Given the description of an element on the screen output the (x, y) to click on. 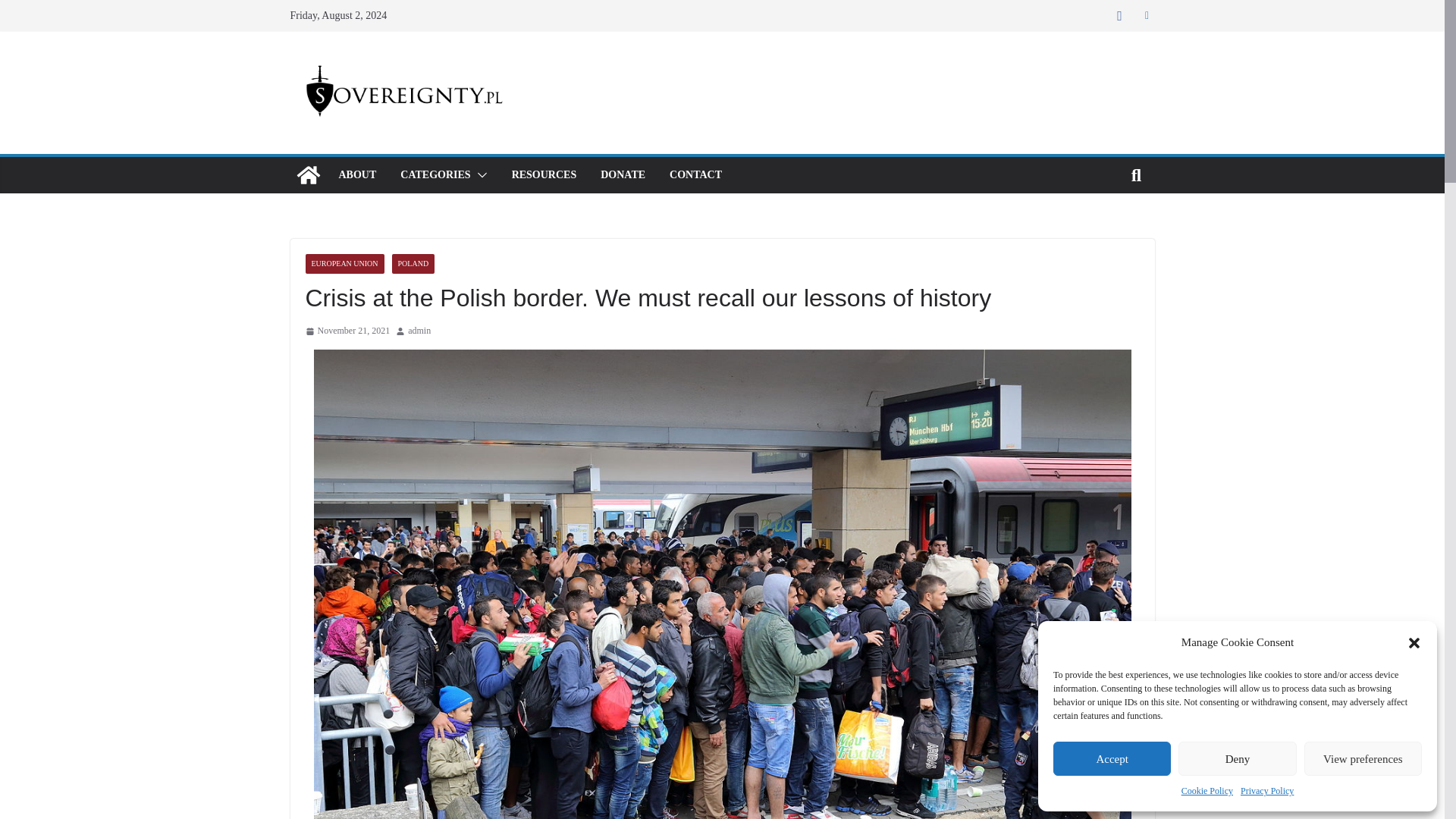
CATEGORIES (435, 174)
View preferences (1363, 758)
DONATE (622, 174)
POLAND (413, 263)
admin (418, 330)
Accept (1111, 758)
Deny (1236, 758)
Sovereignty.pl (307, 175)
Cookie Policy (1206, 791)
Privacy Policy (1267, 791)
ABOUT (356, 174)
admin (418, 330)
CONTACT (695, 174)
November 21, 2021 (347, 330)
1:05 pm (347, 330)
